Given the description of an element on the screen output the (x, y) to click on. 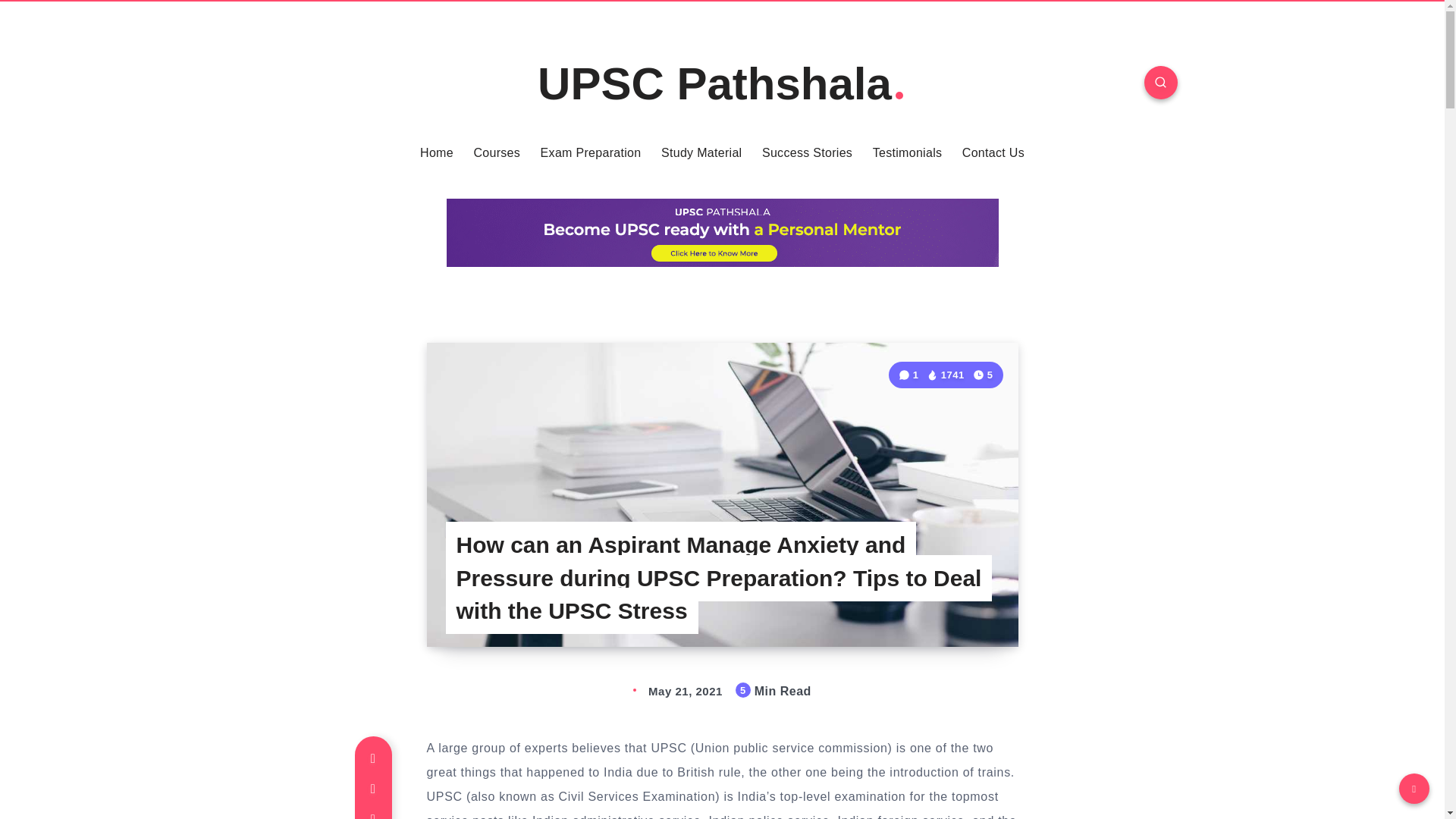
Testimonials (907, 152)
UPSC Pathshala (722, 83)
Courses (496, 152)
Home (436, 152)
5 Min Read (982, 375)
Exam Preparation (591, 152)
Contact Us (993, 152)
1 (909, 374)
1741 Views (944, 374)
Study Material (701, 152)
